Given the description of an element on the screen output the (x, y) to click on. 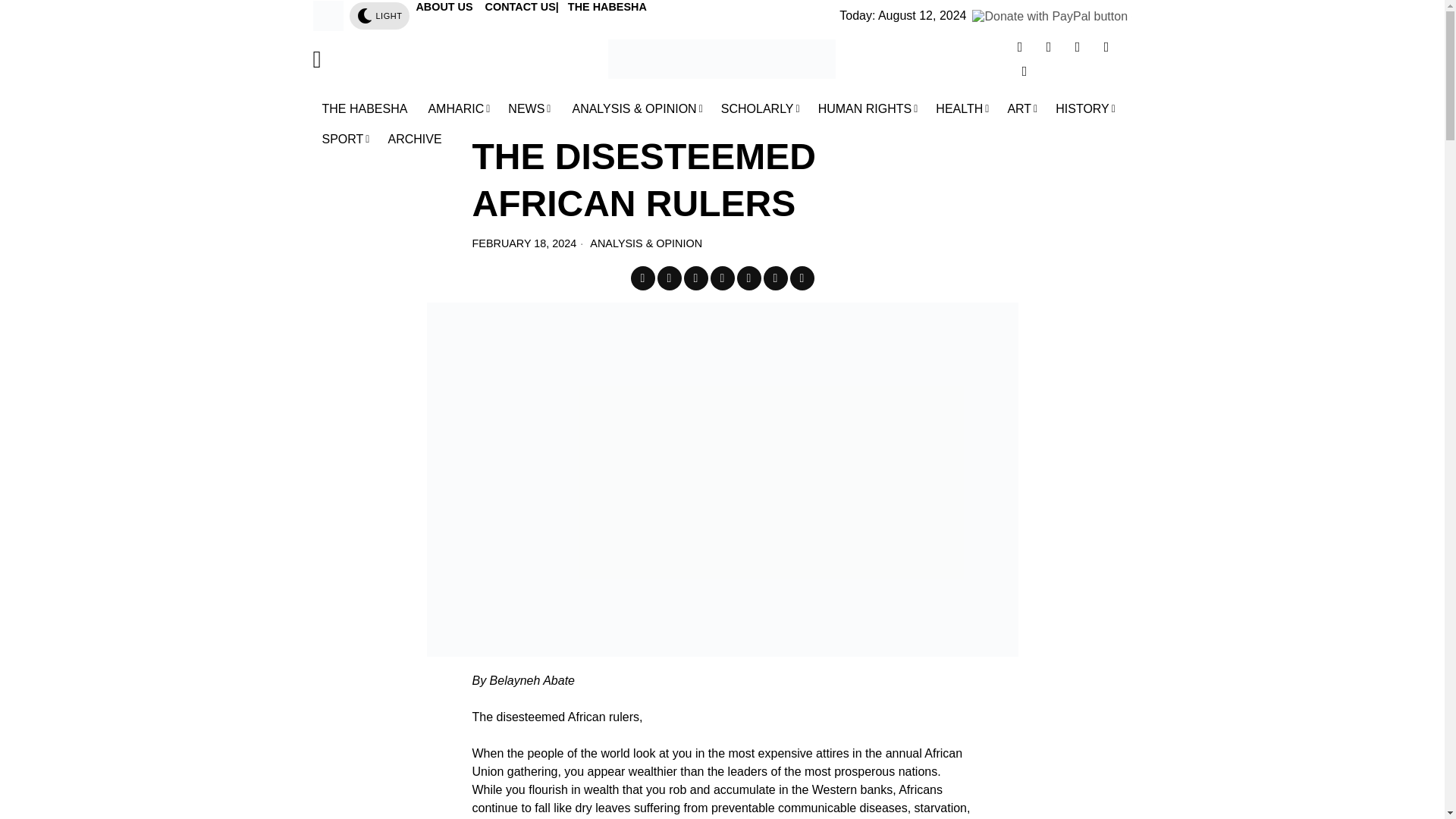
ABOUT US (445, 6)
18 Feb, 2024 23:05:03 (523, 242)
PayPal - The safer, easier way to pay online! (1049, 16)
HE HABESHA (610, 6)
NEWS (529, 109)
SCHOLARLY (760, 109)
Scholarly Articles (760, 109)
AMHARIC (459, 109)
THE HABESHA (366, 109)
CONTACT US (520, 6)
